Given the description of an element on the screen output the (x, y) to click on. 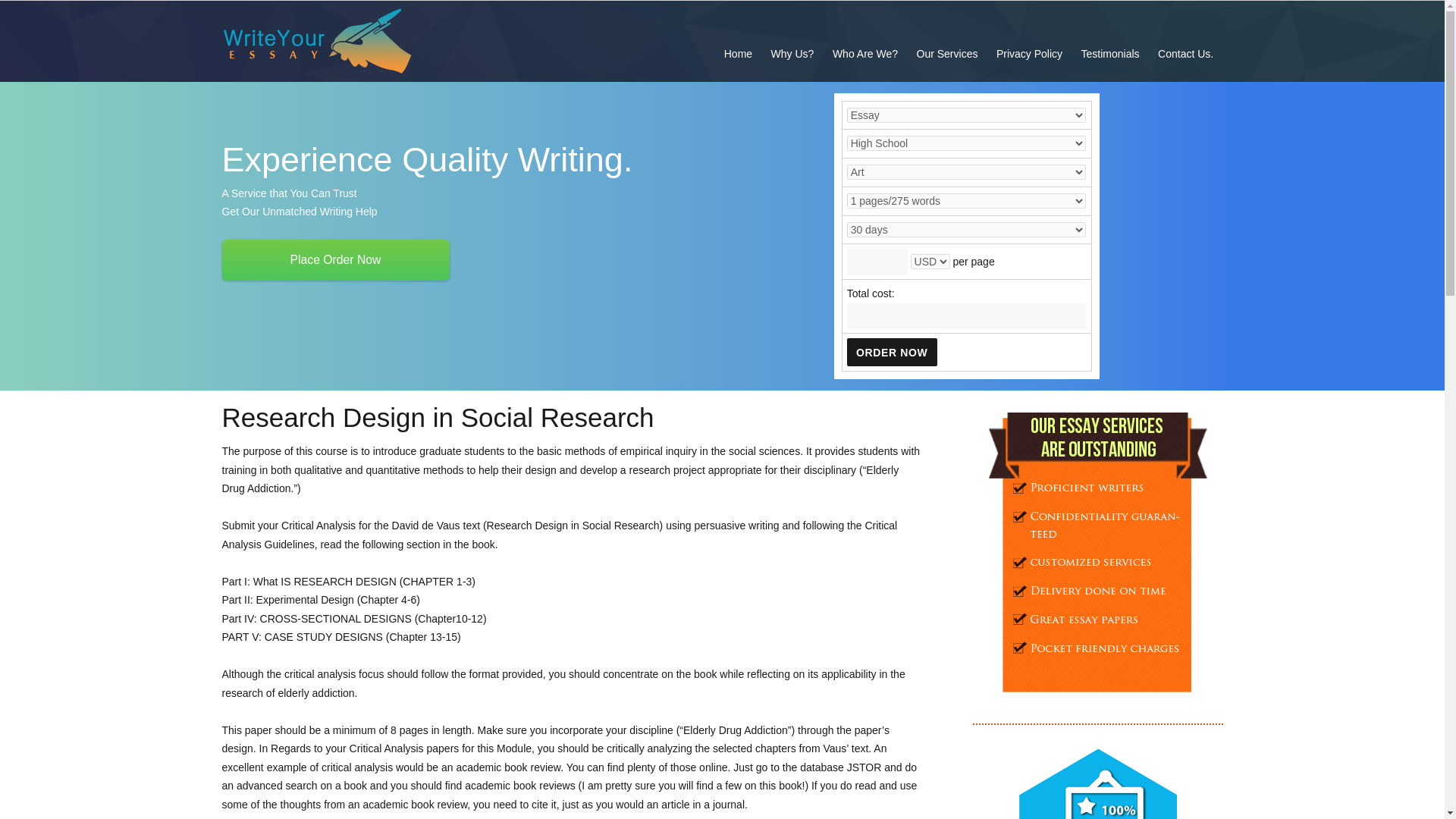
Contact Us. (1185, 53)
Academic level (966, 142)
Why Us? (791, 53)
Paper urgency (966, 229)
Order Now (892, 352)
Cost per page (877, 261)
Privacy Policy (1029, 53)
Order Now (892, 352)
Type of paper (965, 115)
Number of pages (966, 200)
Who Are We? (865, 53)
Place Order Now (334, 259)
Our Services (947, 53)
Home (737, 53)
